Given the description of an element on the screen output the (x, y) to click on. 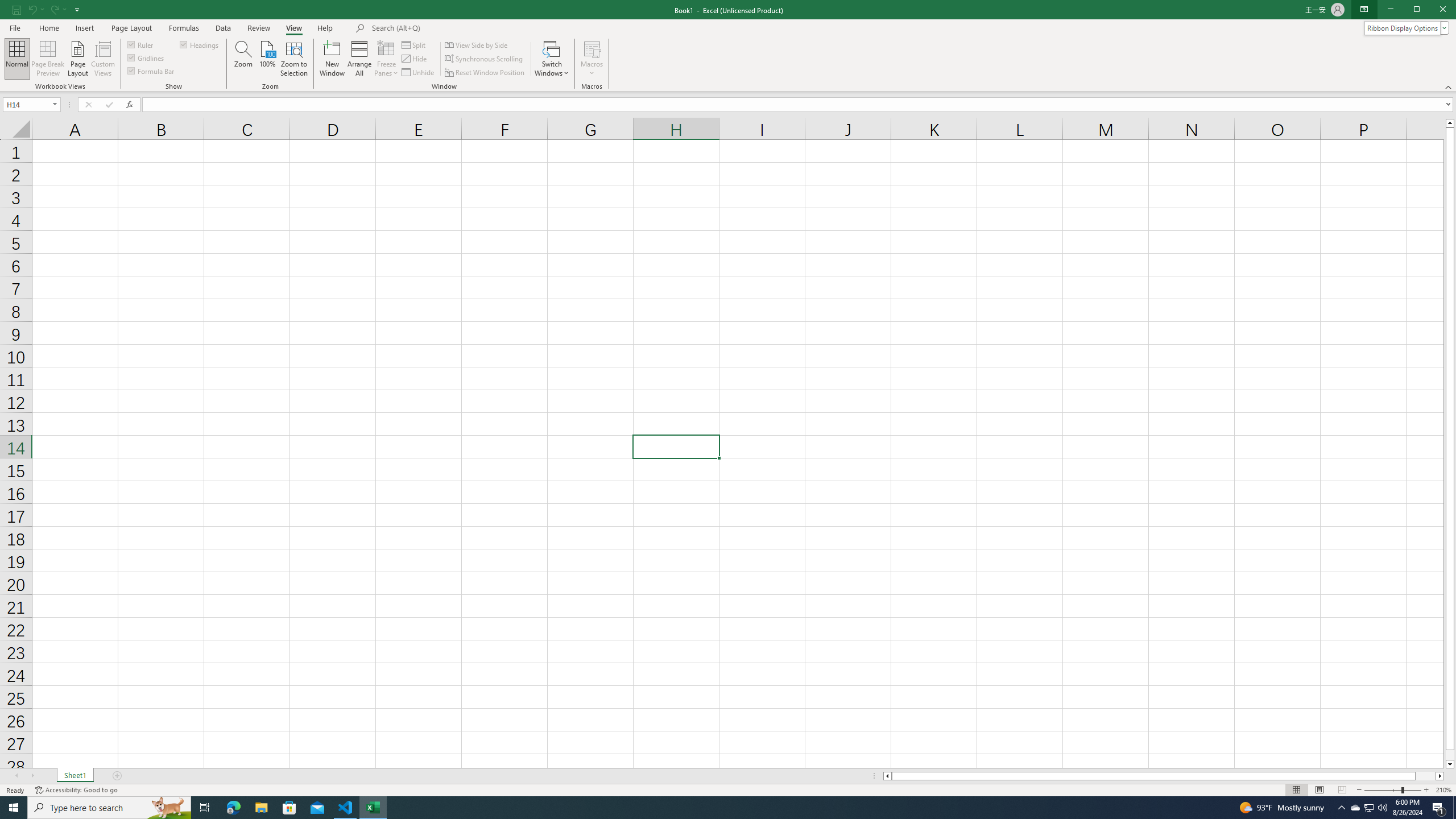
Zoom... (242, 58)
View Macros (591, 48)
View Side by Side (476, 44)
Ruler (141, 44)
